Given the description of an element on the screen output the (x, y) to click on. 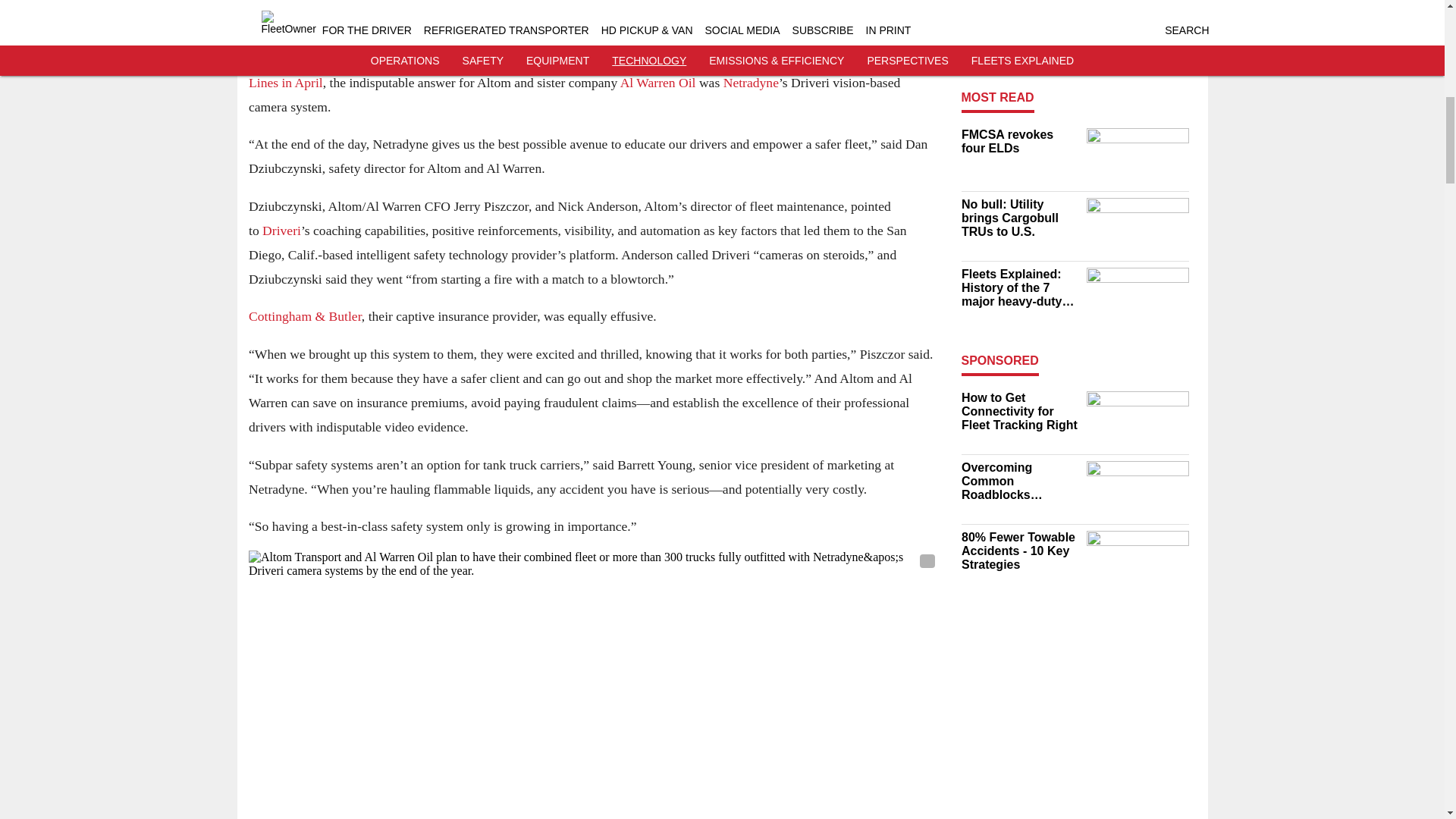
Altom Transport (419, 9)
Driveri (281, 230)
Al Warren Oil (657, 82)
Bruce Oakley last November (766, 58)
Netradyne (749, 82)
